Given the description of an element on the screen output the (x, y) to click on. 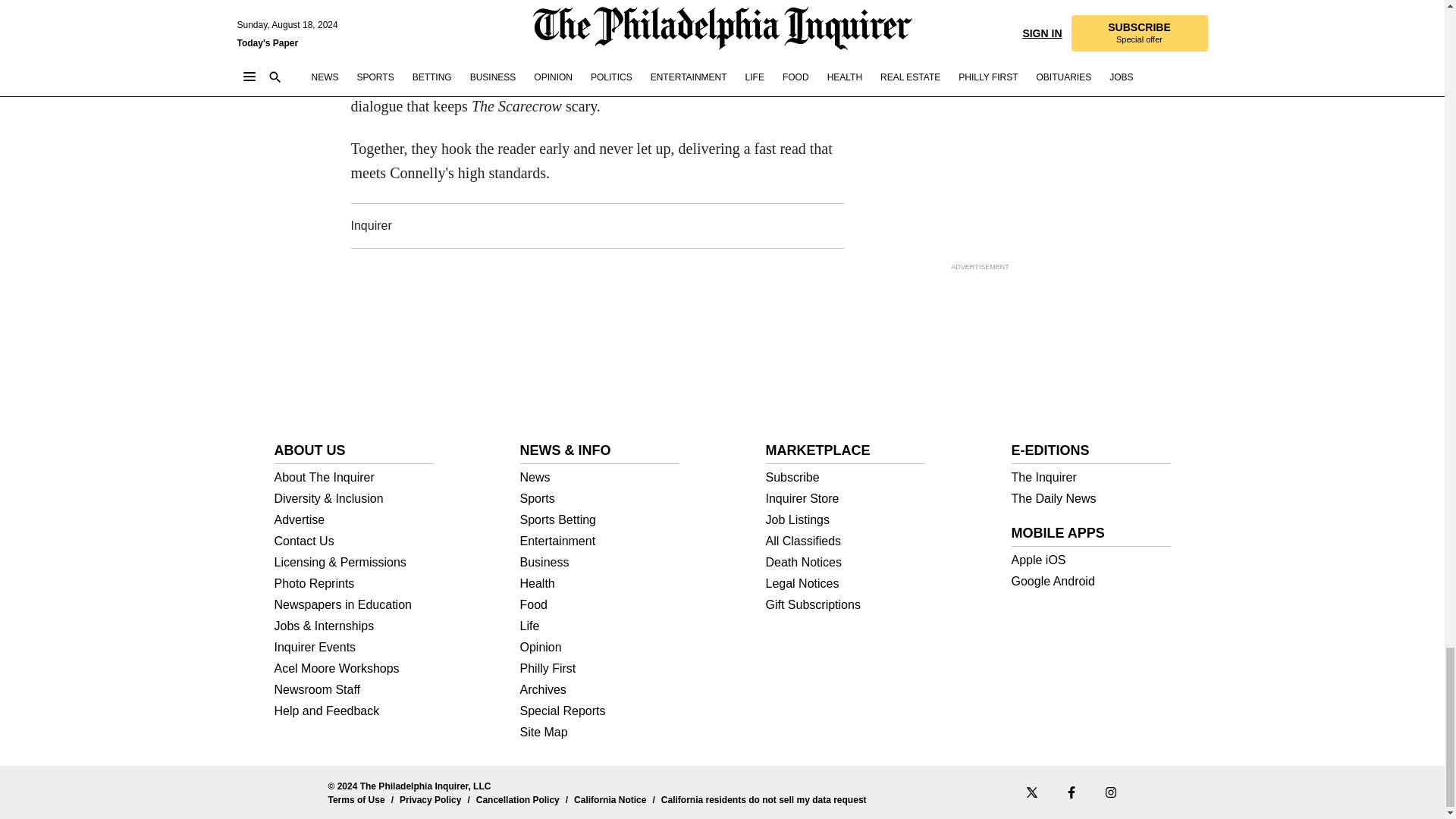
Advertise (354, 520)
X (1030, 792)
Instagram (1109, 792)
About The Inquirer (354, 477)
Facebook (1070, 792)
